Given the description of an element on the screen output the (x, y) to click on. 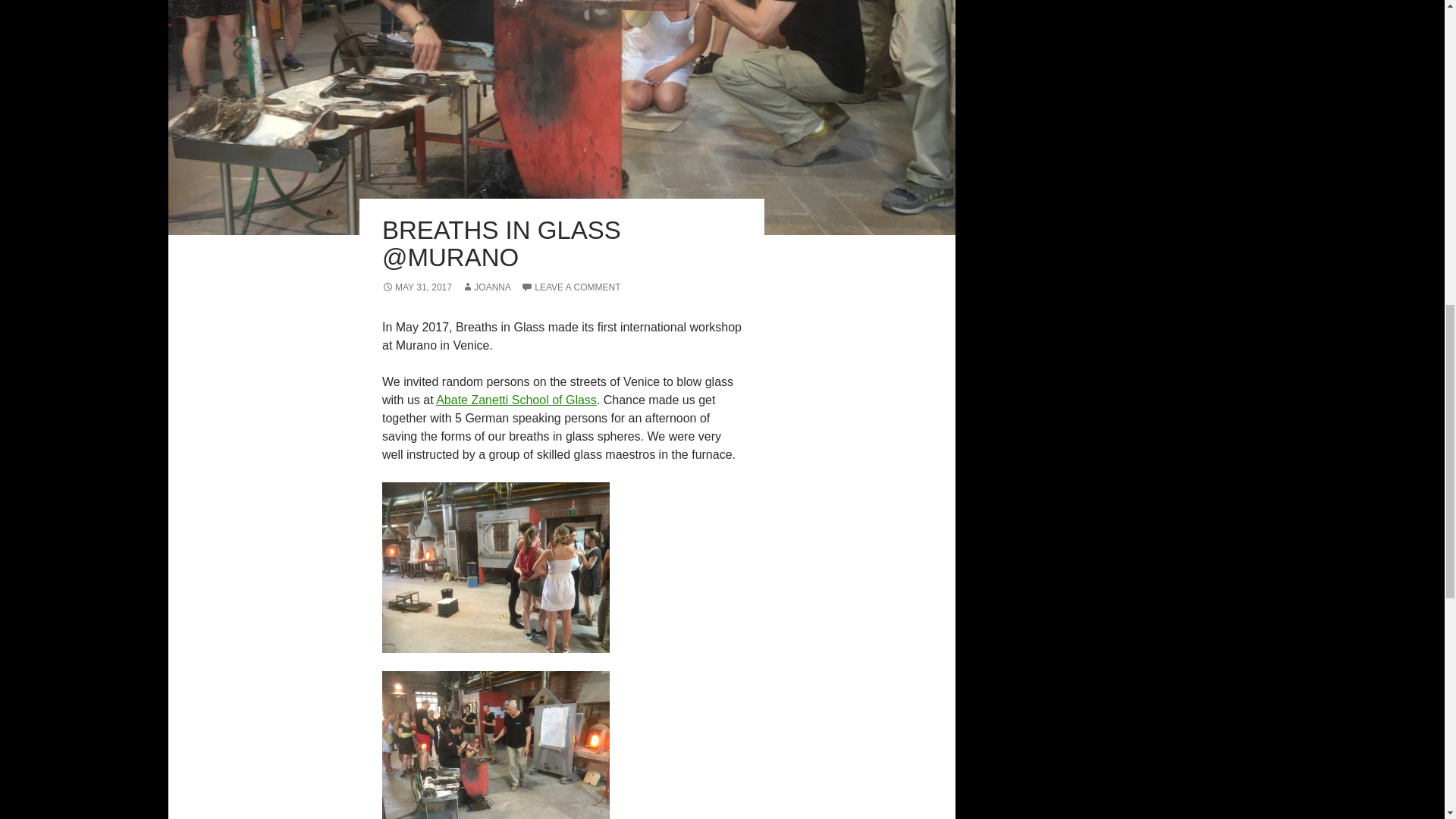
JOANNA (486, 286)
LEAVE A COMMENT (570, 286)
MAY 31, 2017 (416, 286)
Website of Abate Zanetti School of Glass (515, 399)
Abate Zanetti School of Glass (515, 399)
